Given the description of an element on the screen output the (x, y) to click on. 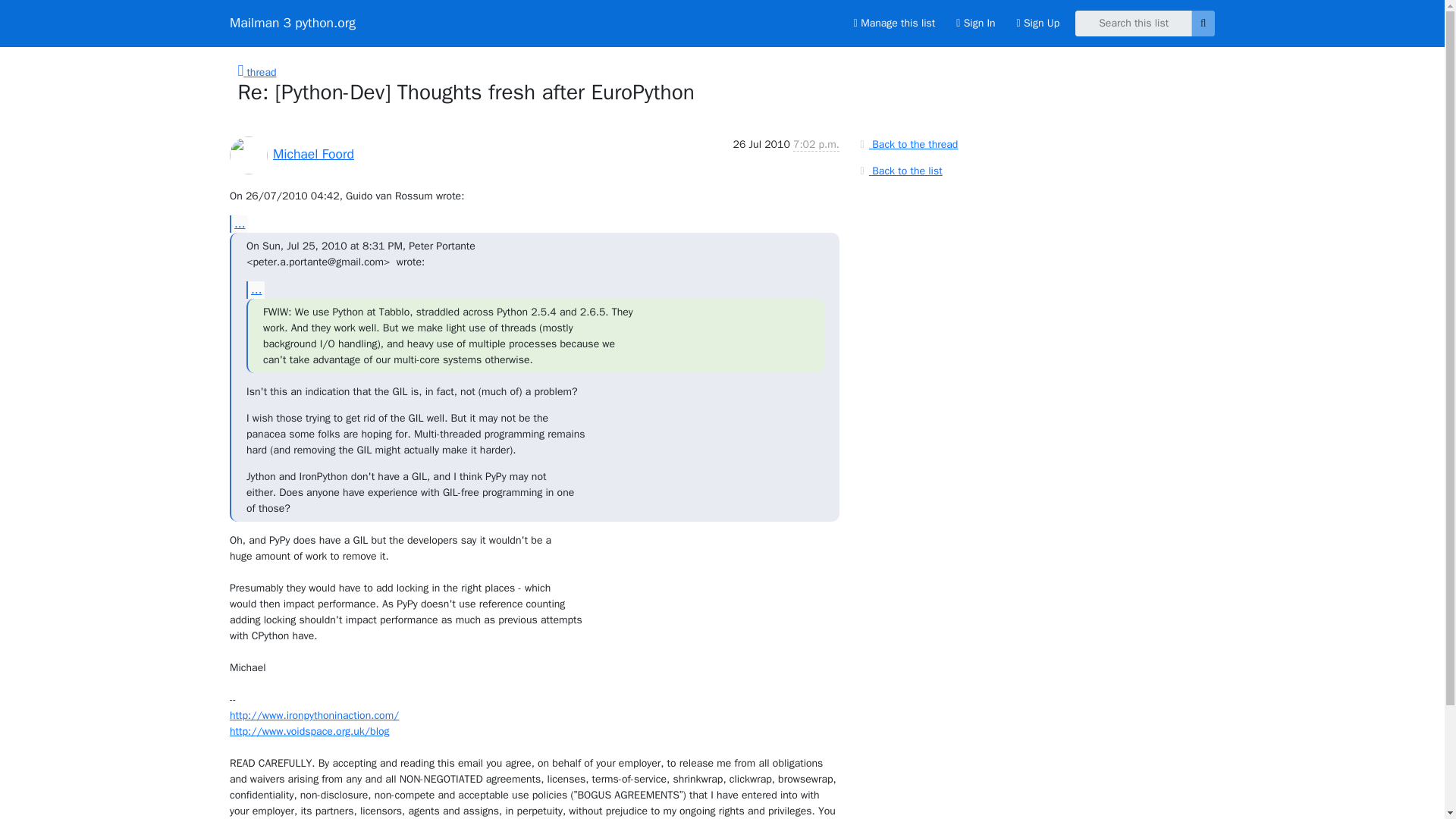
Back to the thread (907, 144)
... (238, 223)
Sign In (975, 22)
Manage this list (893, 22)
Mailman 3 python.org (292, 23)
See the profile for Michael Foord (313, 153)
Sender's time: July 26, 2010, 11:02 a.m. (816, 144)
Sign Up (1038, 22)
Back to the list (899, 169)
Michael Foord (313, 153)
thread (257, 72)
... (255, 289)
